Given the description of an element on the screen output the (x, y) to click on. 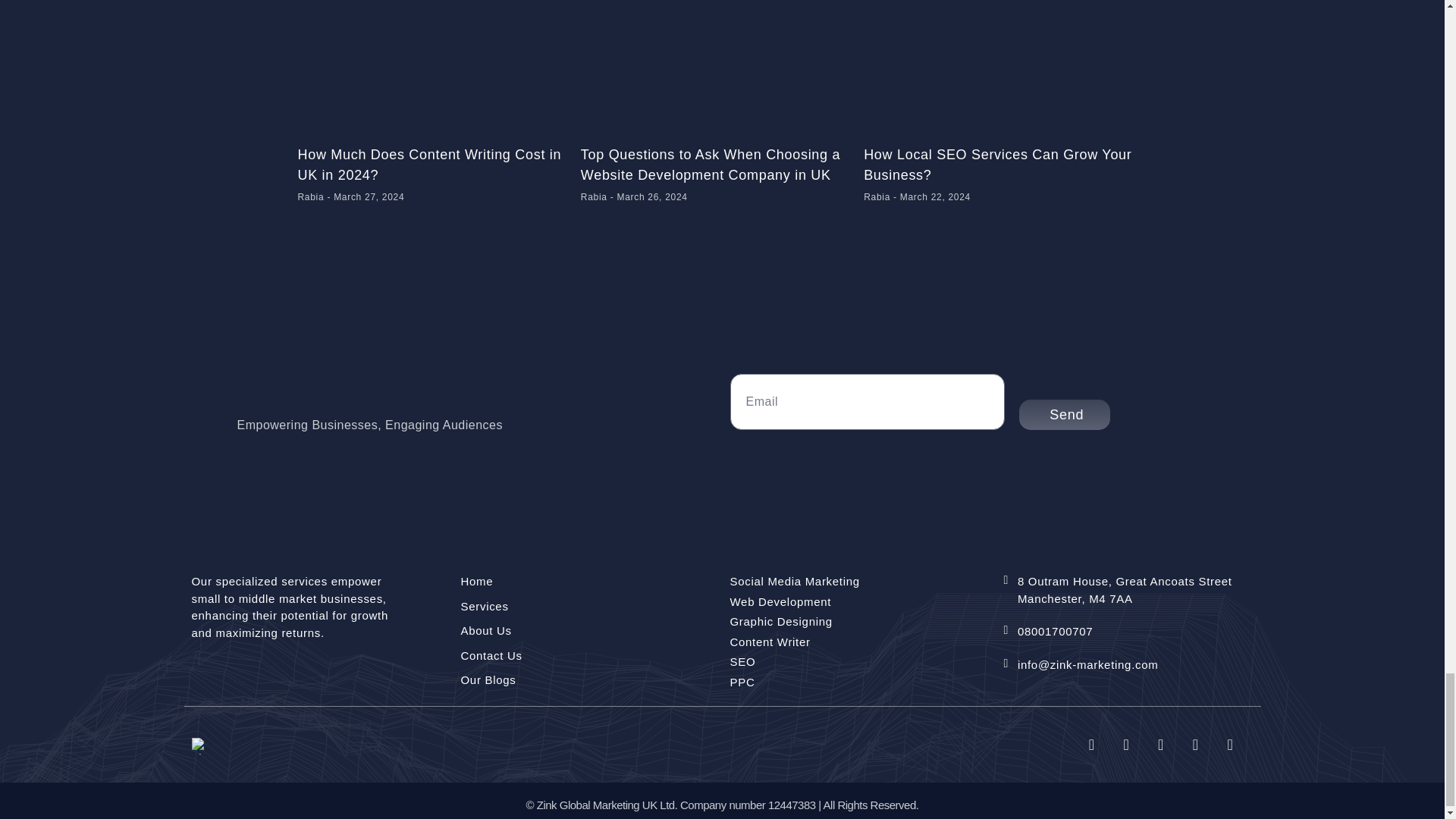
How Much Does Content Writing Cost in UK in 2024? (428, 164)
